Given the description of an element on the screen output the (x, y) to click on. 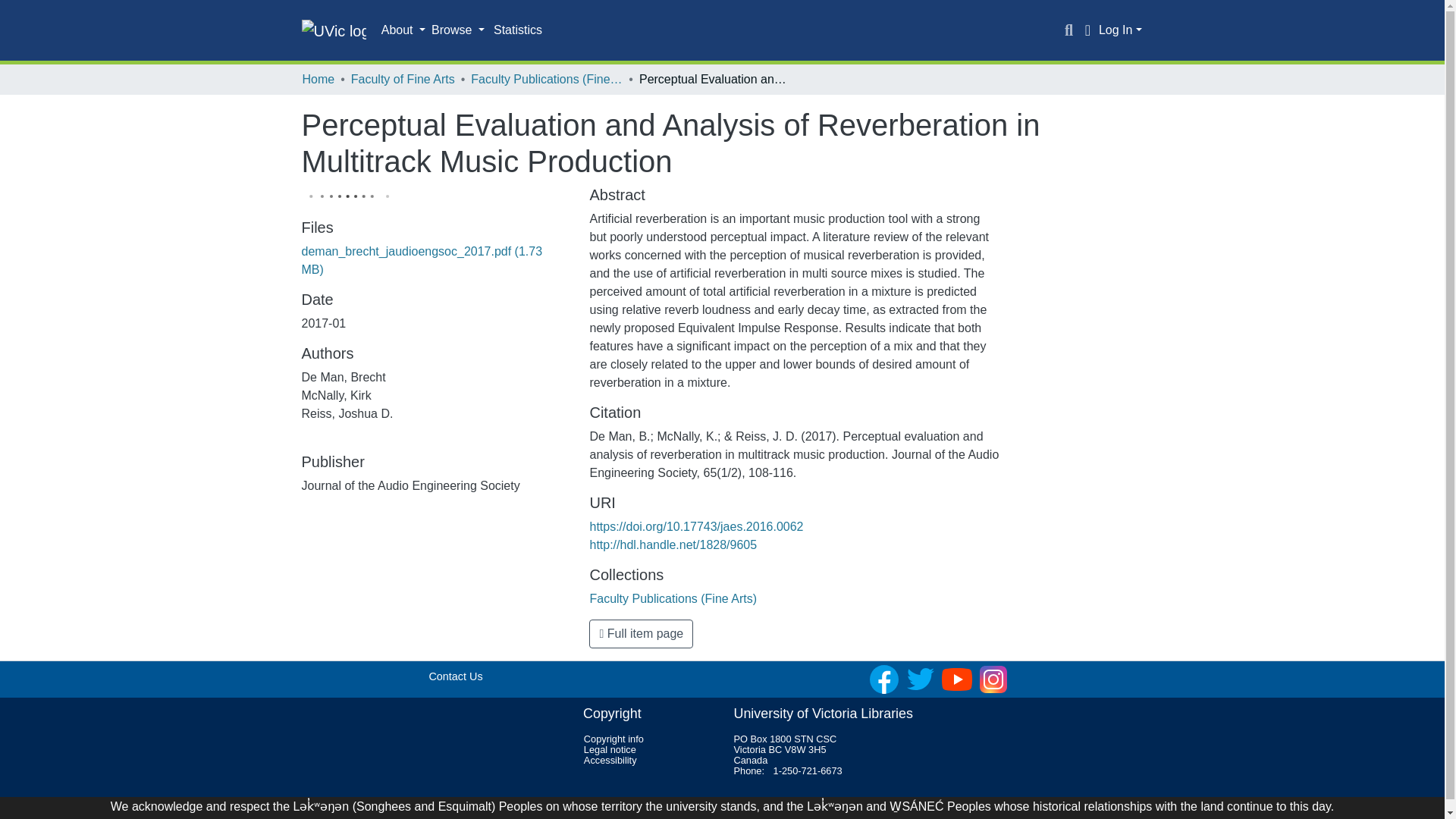
Home (317, 79)
About (403, 30)
Language switch (1087, 30)
Contact Us (454, 676)
Statistics (517, 30)
Full item page (641, 633)
Faculty of Fine Arts (402, 79)
Log In (1119, 29)
Search (1068, 30)
Browse (457, 30)
Statistics (517, 30)
